Given the description of an element on the screen output the (x, y) to click on. 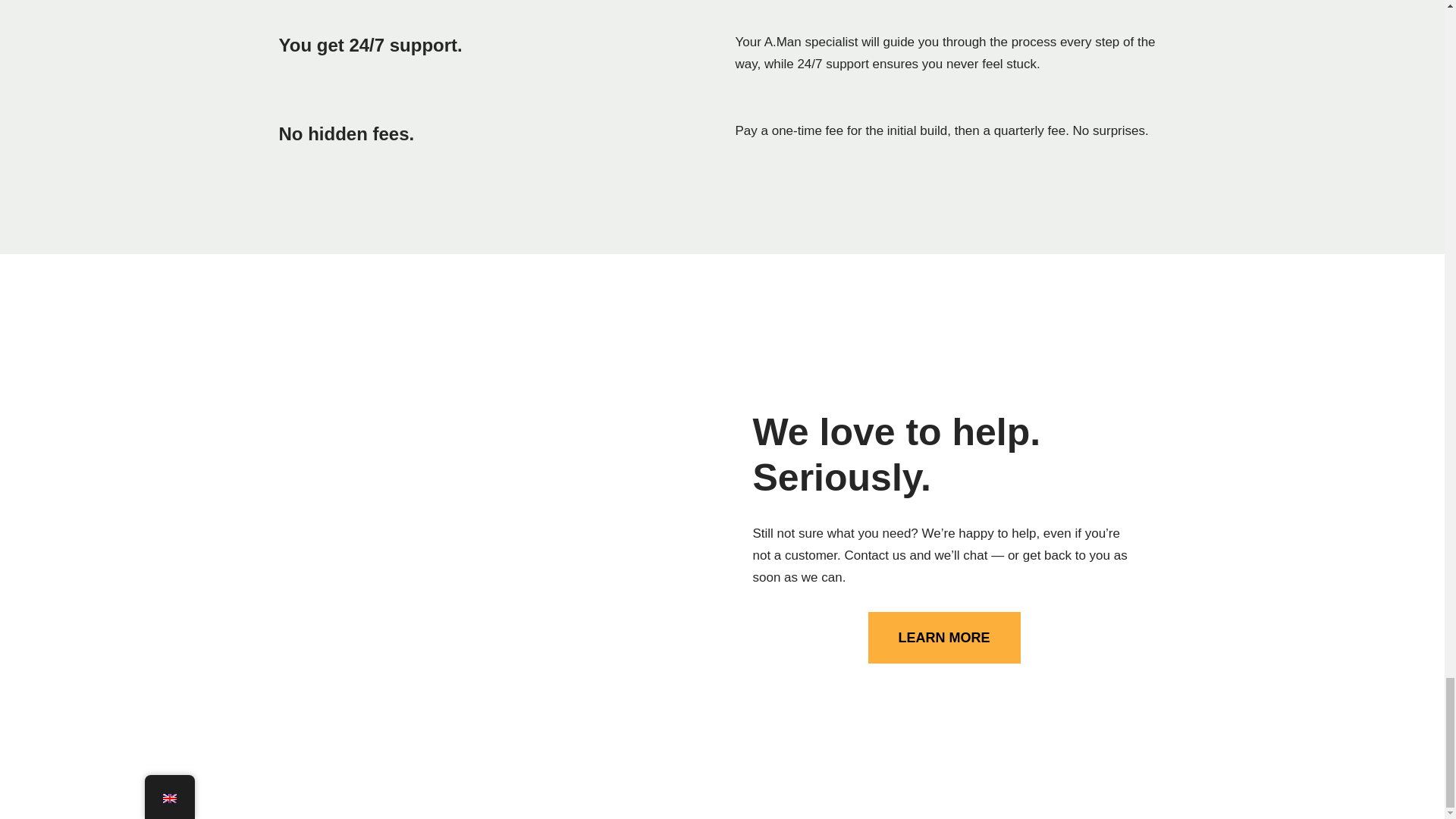
LEARN MORE (943, 637)
